Given the description of an element on the screen output the (x, y) to click on. 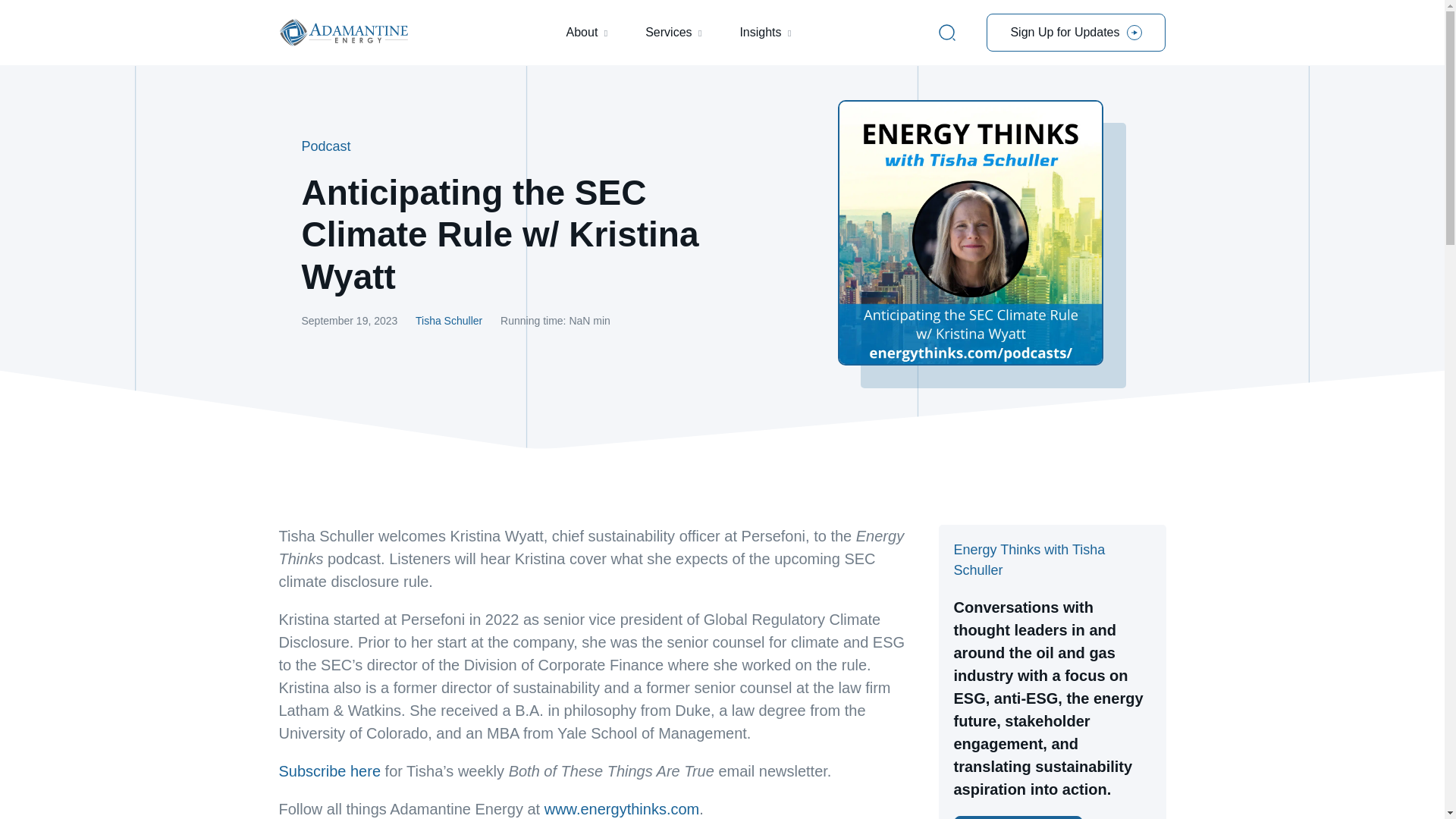
www.energythinks.com (622, 808)
Services (668, 32)
Insights (759, 32)
Sign Up for Updates (1076, 32)
Subscribe (1018, 817)
Subscribe here (330, 770)
About (582, 32)
Tisha Schuller (447, 320)
